Given the description of an element on the screen output the (x, y) to click on. 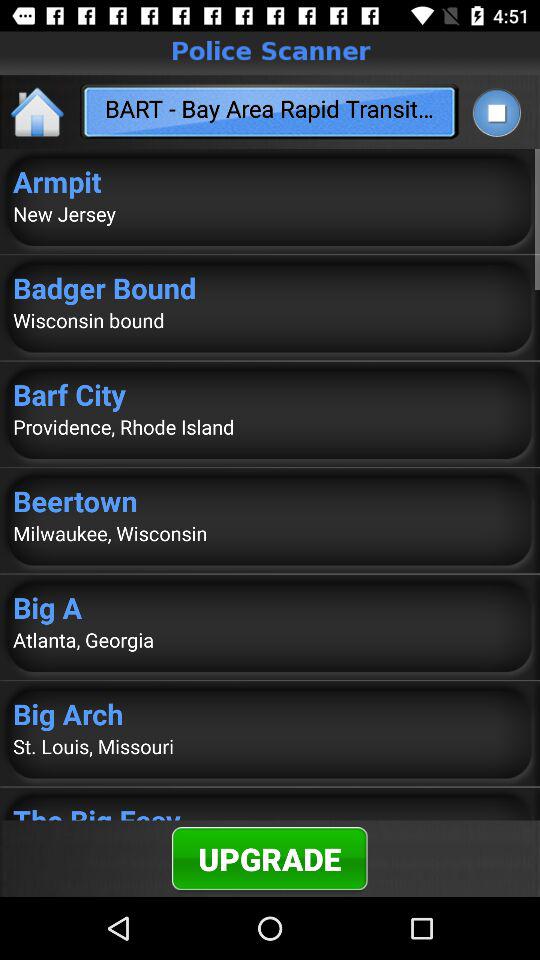
open the app to the left of the bart bay area item (38, 111)
